Given the description of an element on the screen output the (x, y) to click on. 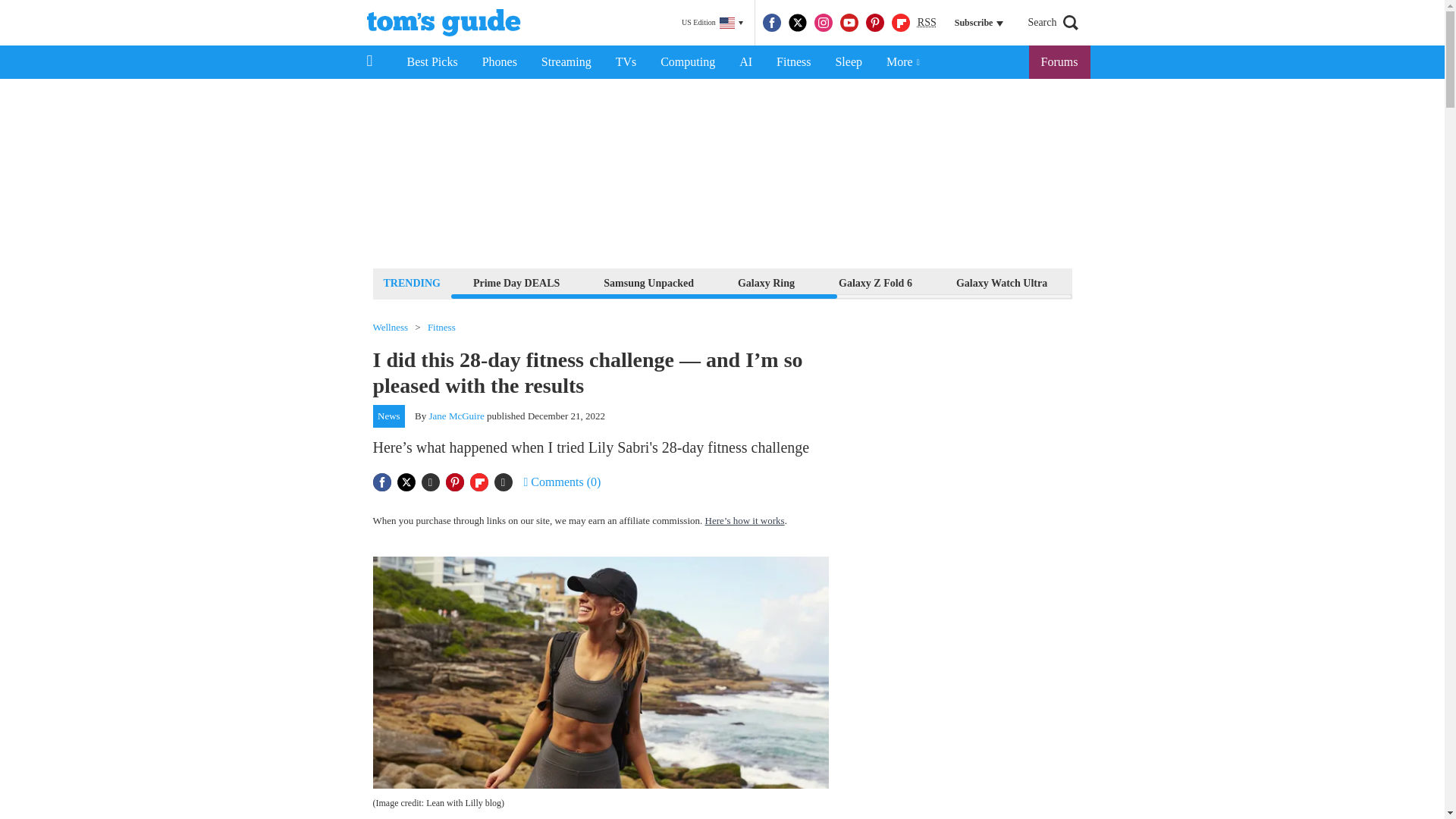
US Edition (712, 22)
RSS (926, 22)
Fitness (793, 61)
Streaming (566, 61)
AI (745, 61)
Best Picks (431, 61)
Sleep (848, 61)
Computing (686, 61)
Phones (499, 61)
TVs (626, 61)
Really Simple Syndication (926, 21)
